Given the description of an element on the screen output the (x, y) to click on. 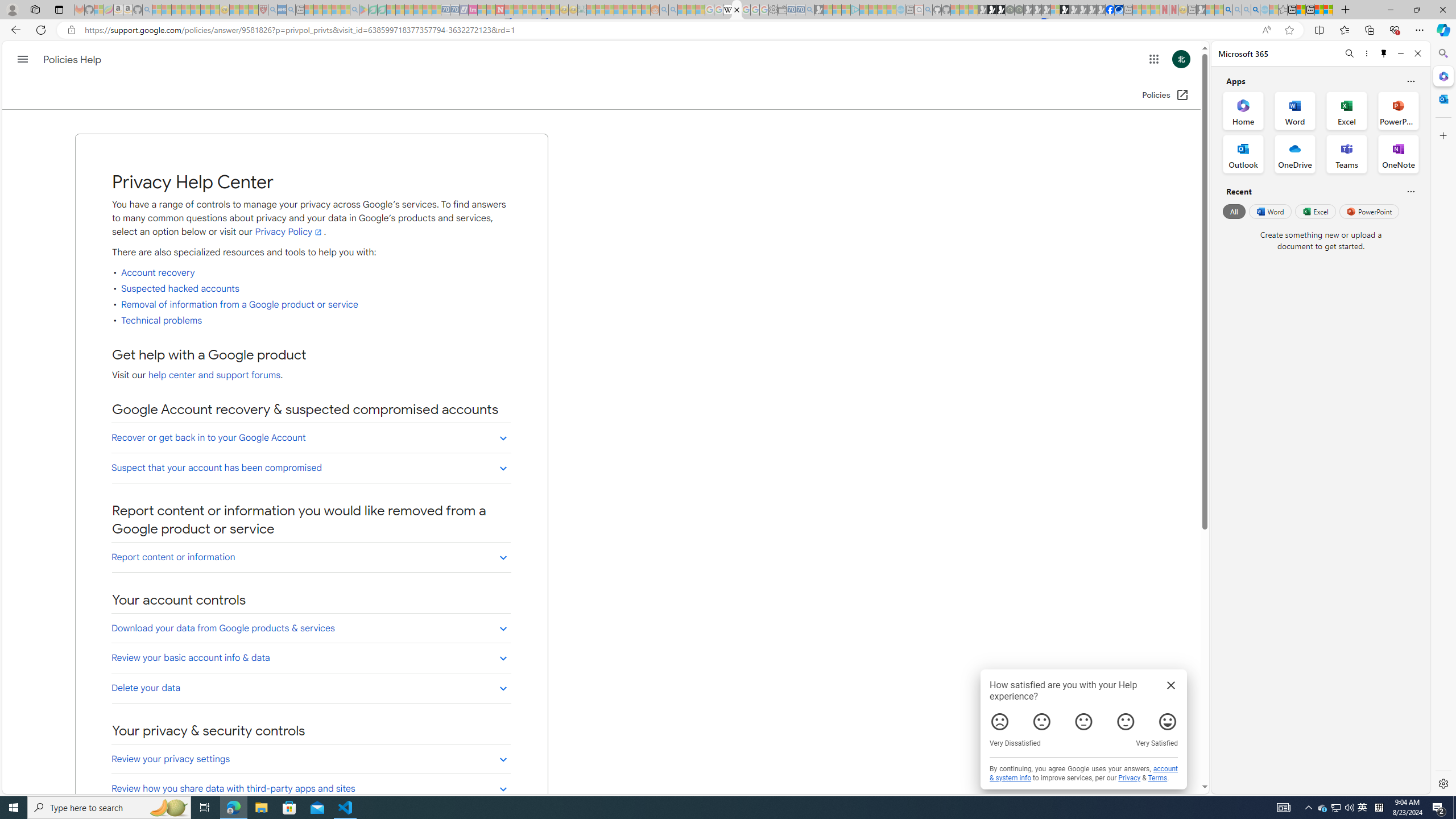
Sign in to your account - Sleeping (1054, 9)
Suspected hacked accounts (179, 288)
Policies (Open in a new window) (1165, 94)
